Given the description of an element on the screen output the (x, y) to click on. 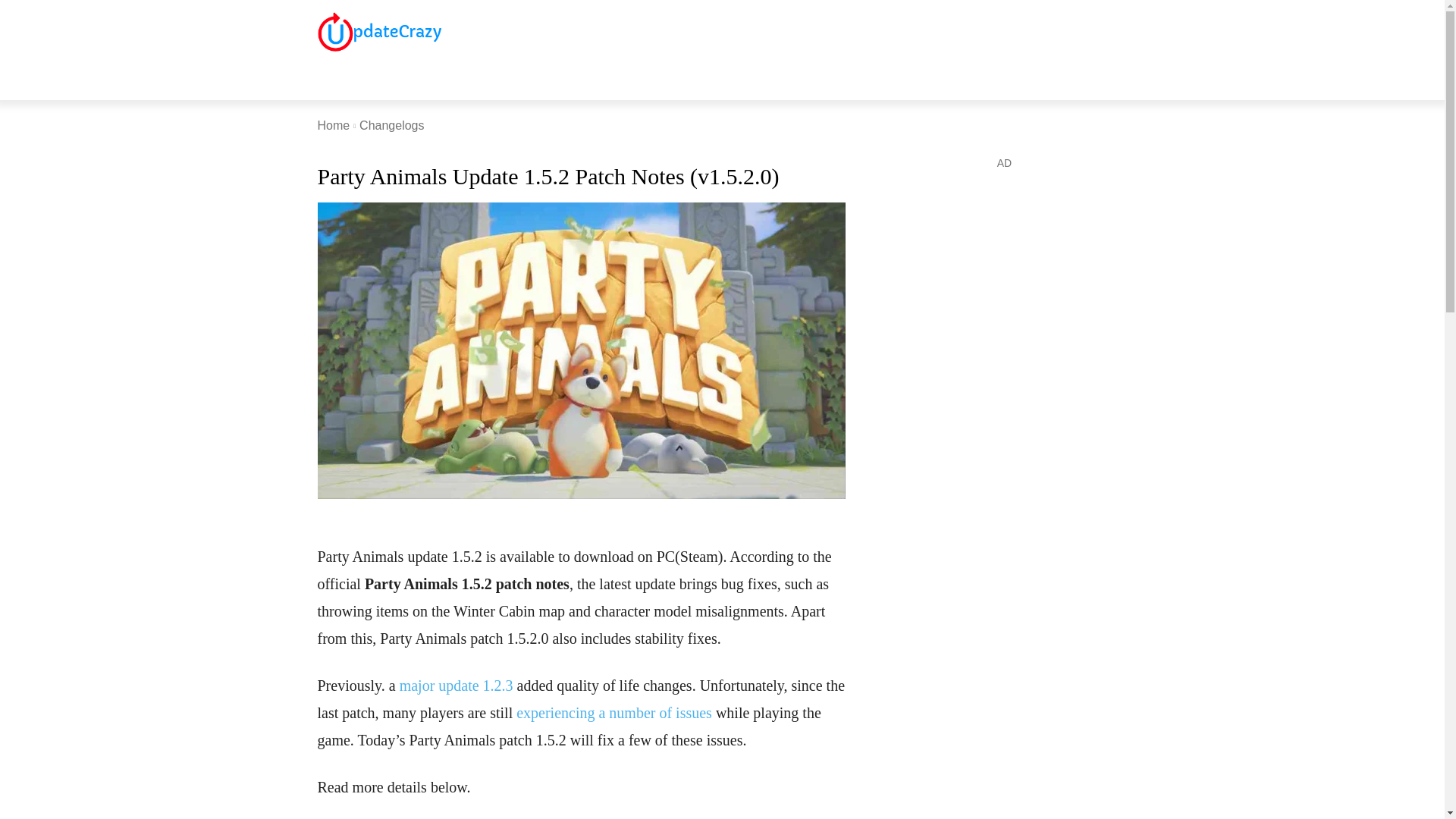
Home (333, 124)
Game Patch Notes for PS4, Xbox One and PC (379, 31)
major update 1.2.3 (455, 685)
Changelogs (391, 124)
View all posts in Changelogs (391, 124)
experiencing a number of issues (613, 712)
